Given the description of an element on the screen output the (x, y) to click on. 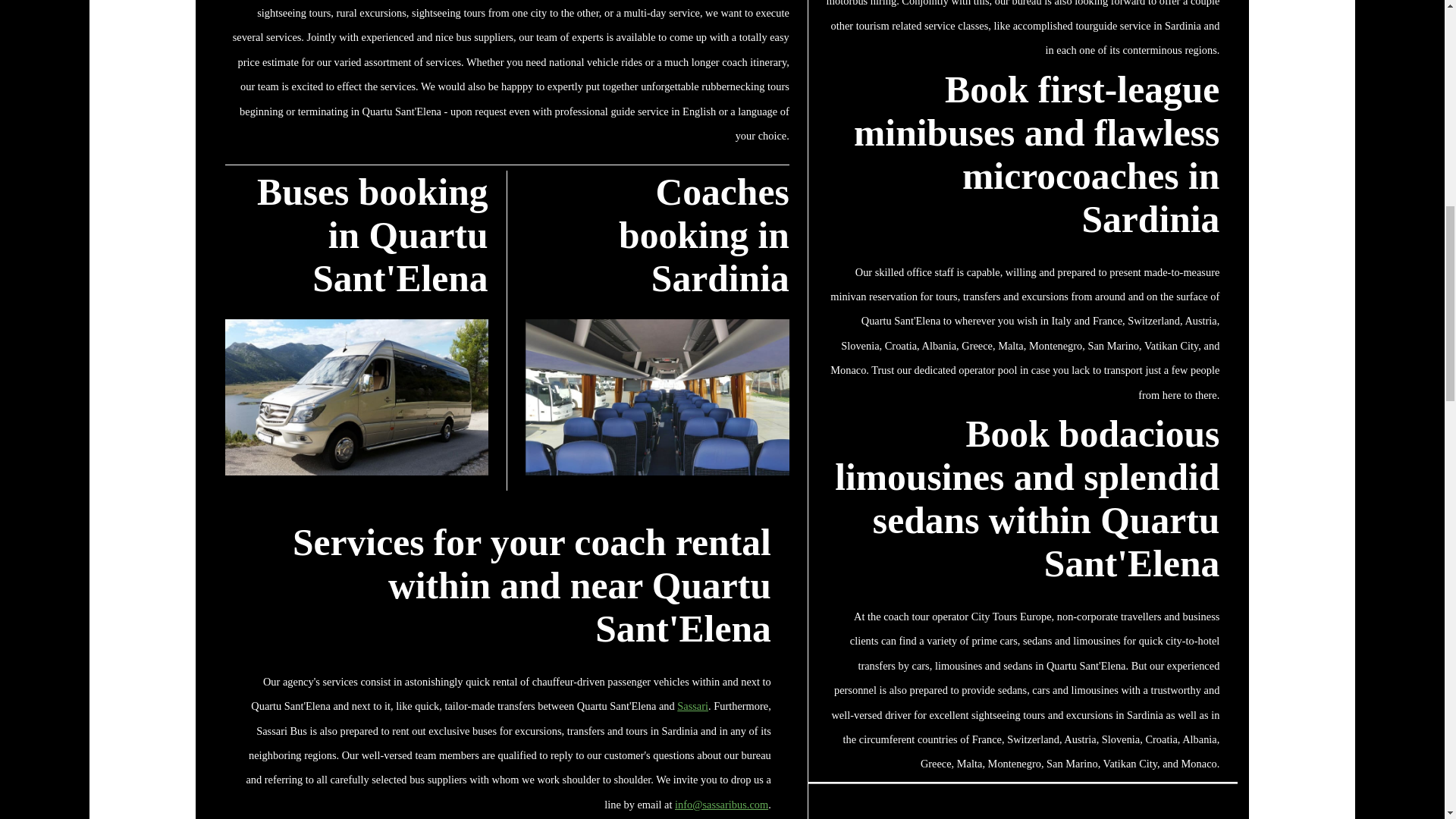
book buses Sassari: hire buses (692, 705)
Sassari (692, 705)
